Given the description of an element on the screen output the (x, y) to click on. 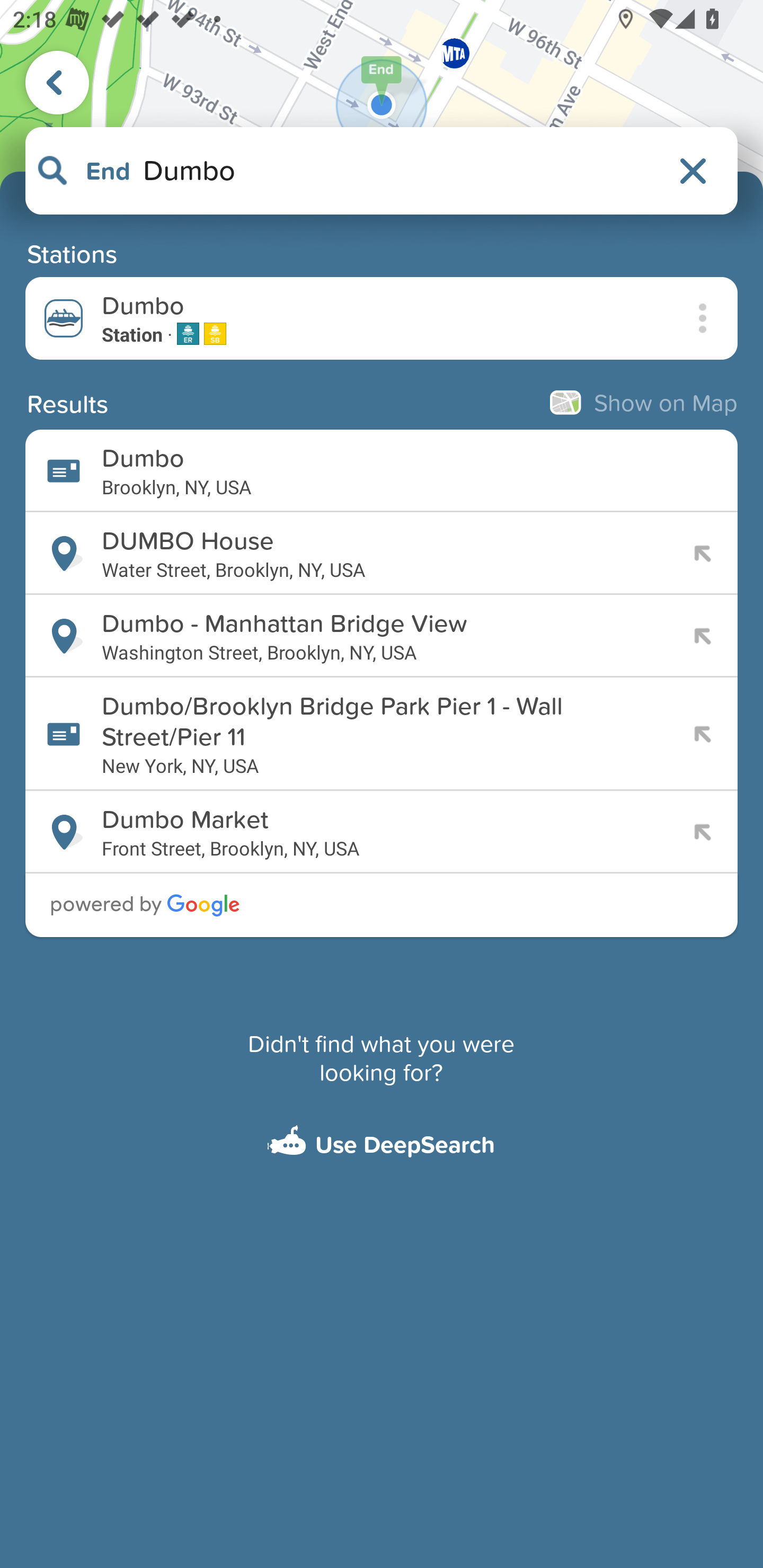
Dumbo Brooklyn, NY, USA (381, 470)
